Given the description of an element on the screen output the (x, y) to click on. 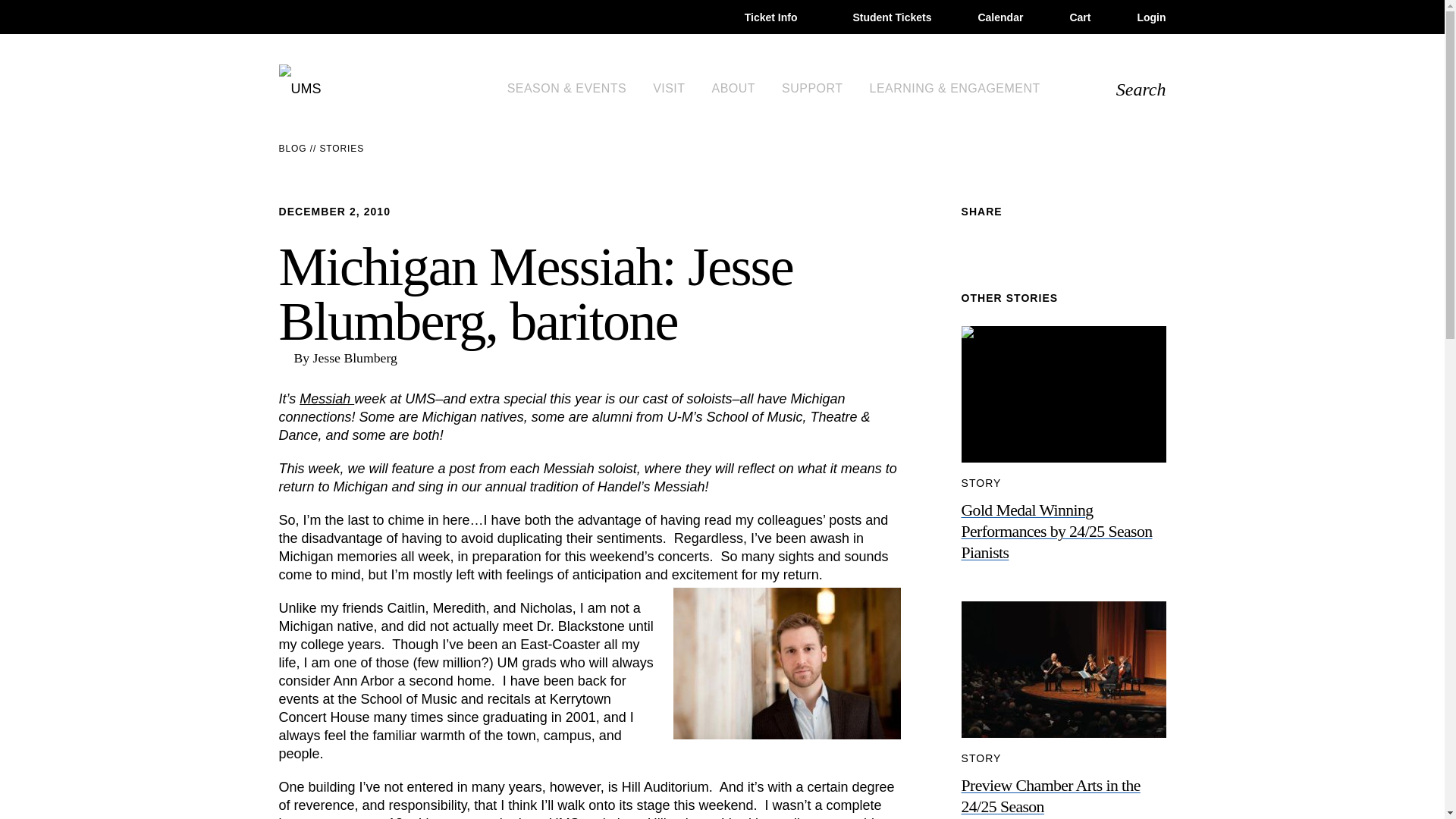
VISIT (673, 88)
Cart (1069, 16)
Calendar (990, 16)
Login (1142, 16)
SUPPORT (817, 88)
Ticket Info (758, 16)
ABOUT (739, 88)
Student Tickets (877, 16)
